Given the description of an element on the screen output the (x, y) to click on. 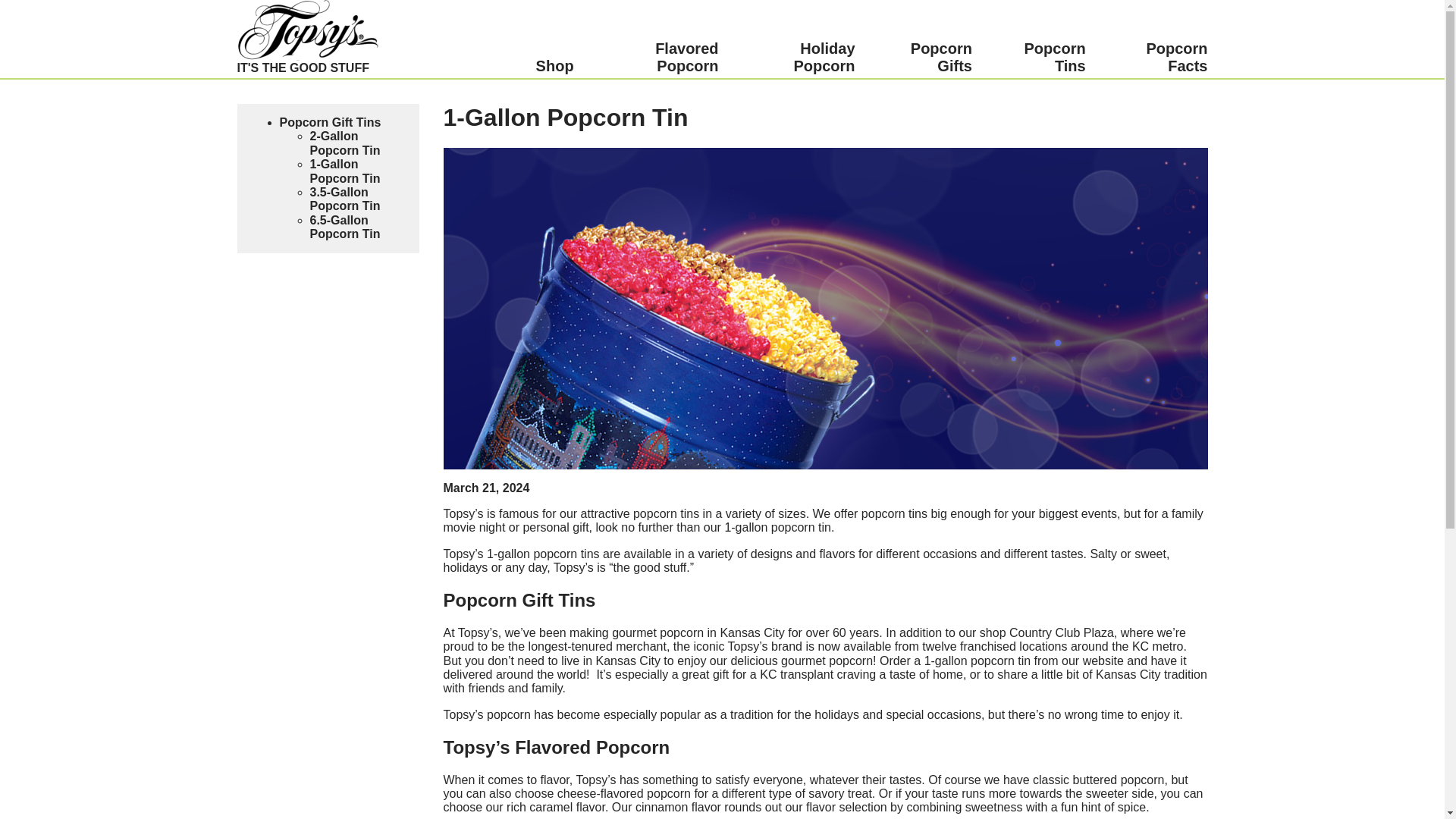
Holiday Popcorn (795, 57)
Shop (554, 66)
Popcorn Tins (1038, 57)
Flavored Popcorn (655, 57)
2-Gallon Popcorn Tin (344, 142)
Popcorn Gifts (922, 57)
Popcorn Gift Tins (329, 122)
6.5-Gallon Popcorn Tin (344, 226)
1-Gallon Popcorn Tin (344, 171)
3.5-Gallon Popcorn Tin (344, 198)
Popcorn Facts (1155, 57)
IT'S THE GOOD STUFF (306, 47)
